Given the description of an element on the screen output the (x, y) to click on. 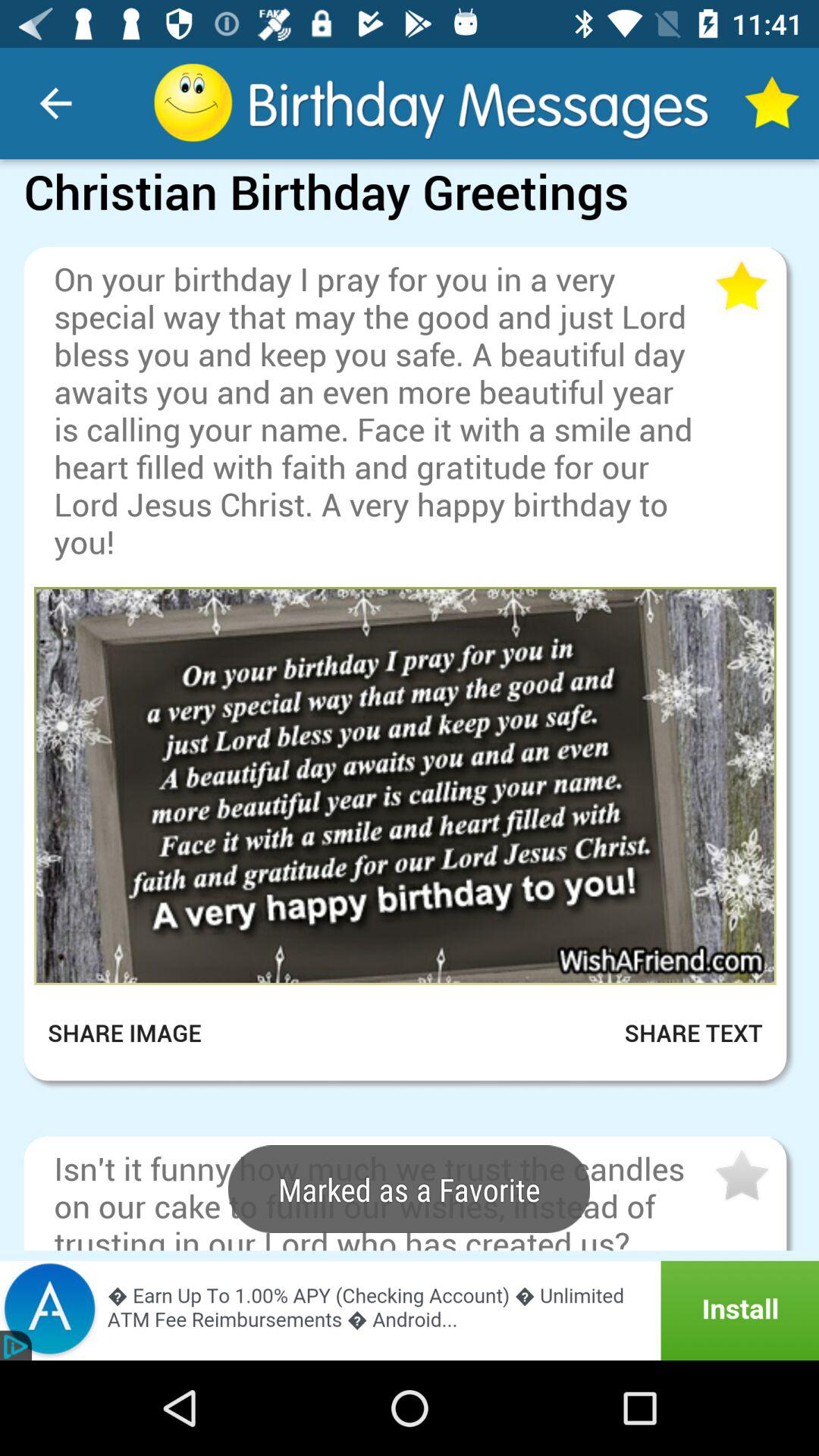
turn on item at the top left corner (55, 103)
